Given the description of an element on the screen output the (x, y) to click on. 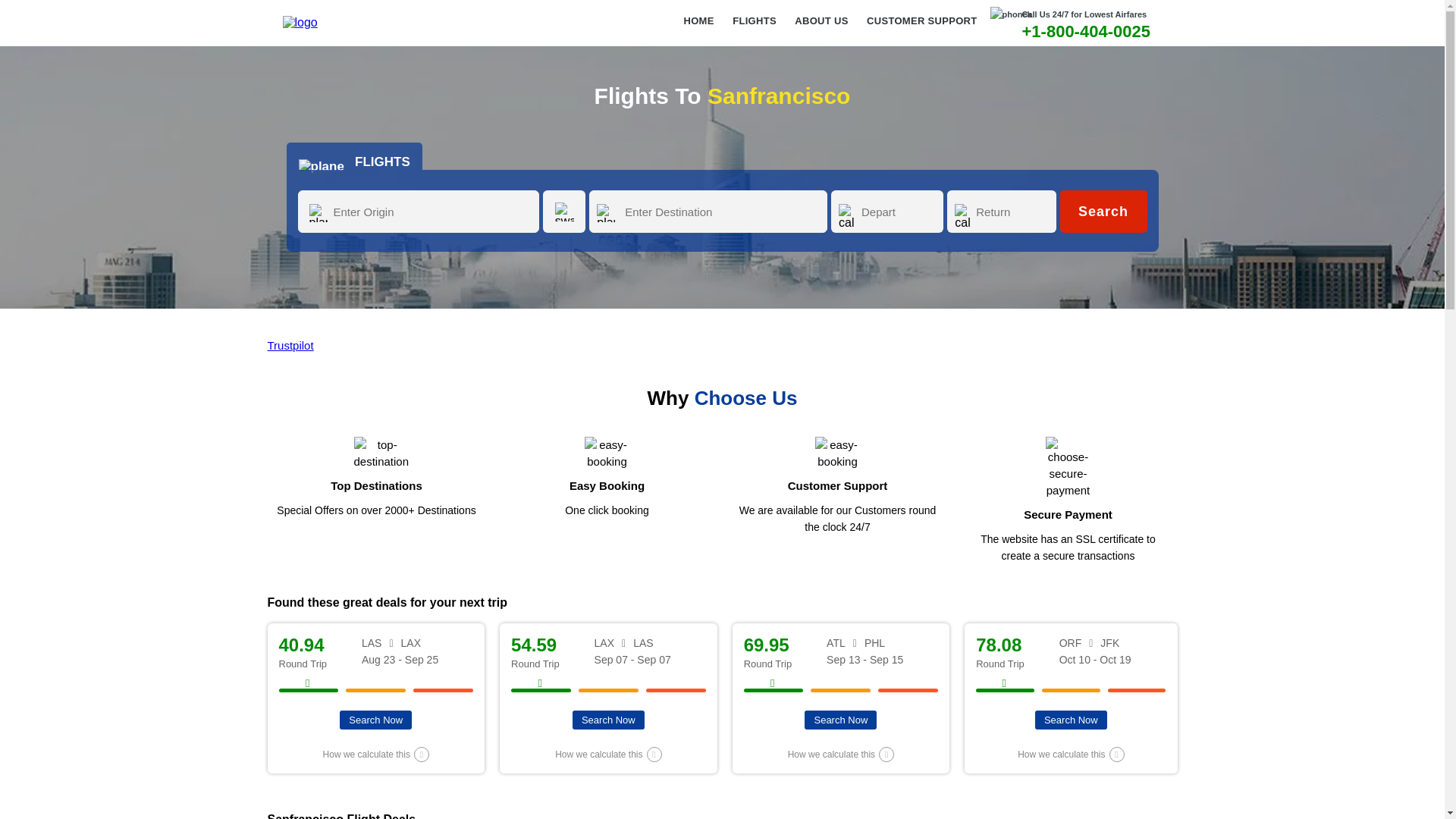
Trustpilot (289, 345)
Search Now (375, 719)
Customer Support (921, 26)
FLIGHTS (754, 26)
Flights (754, 26)
Search (1103, 211)
  FLIGHTS (354, 155)
1 Traveller (423, 201)
ABOUT US (820, 26)
CUSTOMER SUPPORT (921, 26)
About Us (820, 26)
Home (699, 26)
HOME (699, 26)
